Given the description of an element on the screen output the (x, y) to click on. 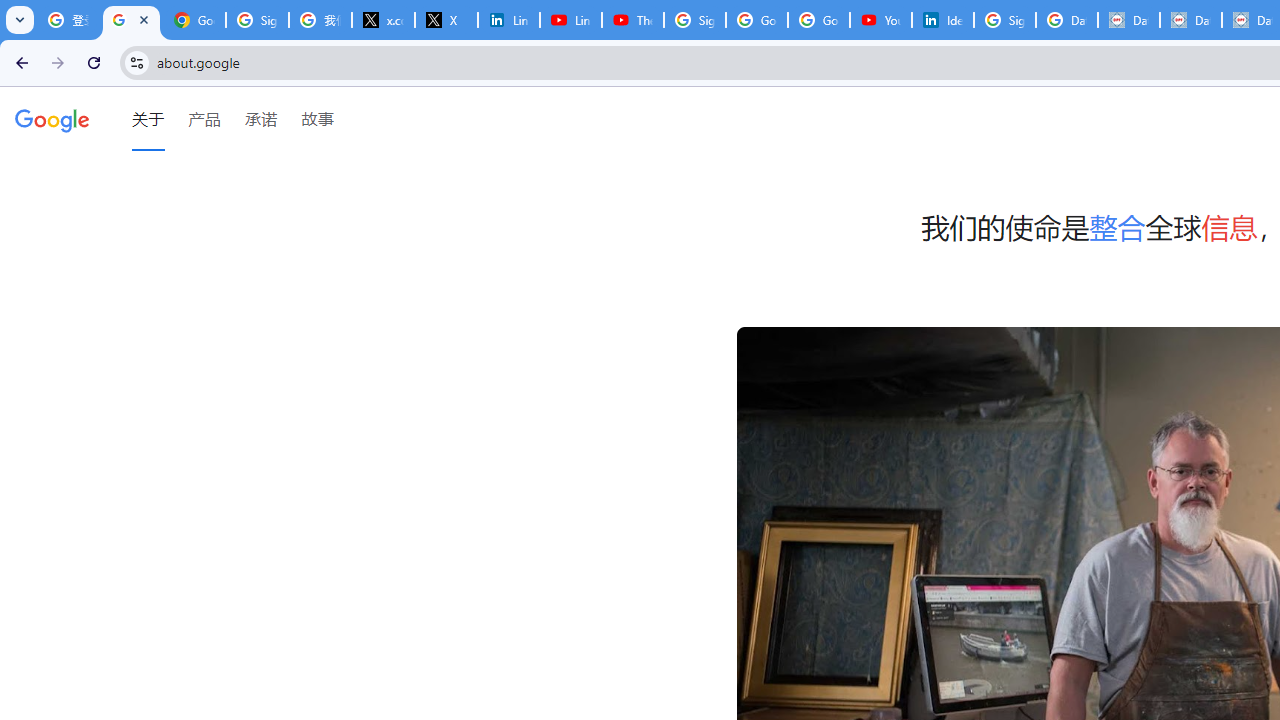
LinkedIn - YouTube (570, 20)
X (445, 20)
Data Privacy Framework (1190, 20)
Data Privacy Framework (1128, 20)
LinkedIn Privacy Policy (508, 20)
Sign in - Google Accounts (694, 20)
Google (52, 119)
